Given the description of an element on the screen output the (x, y) to click on. 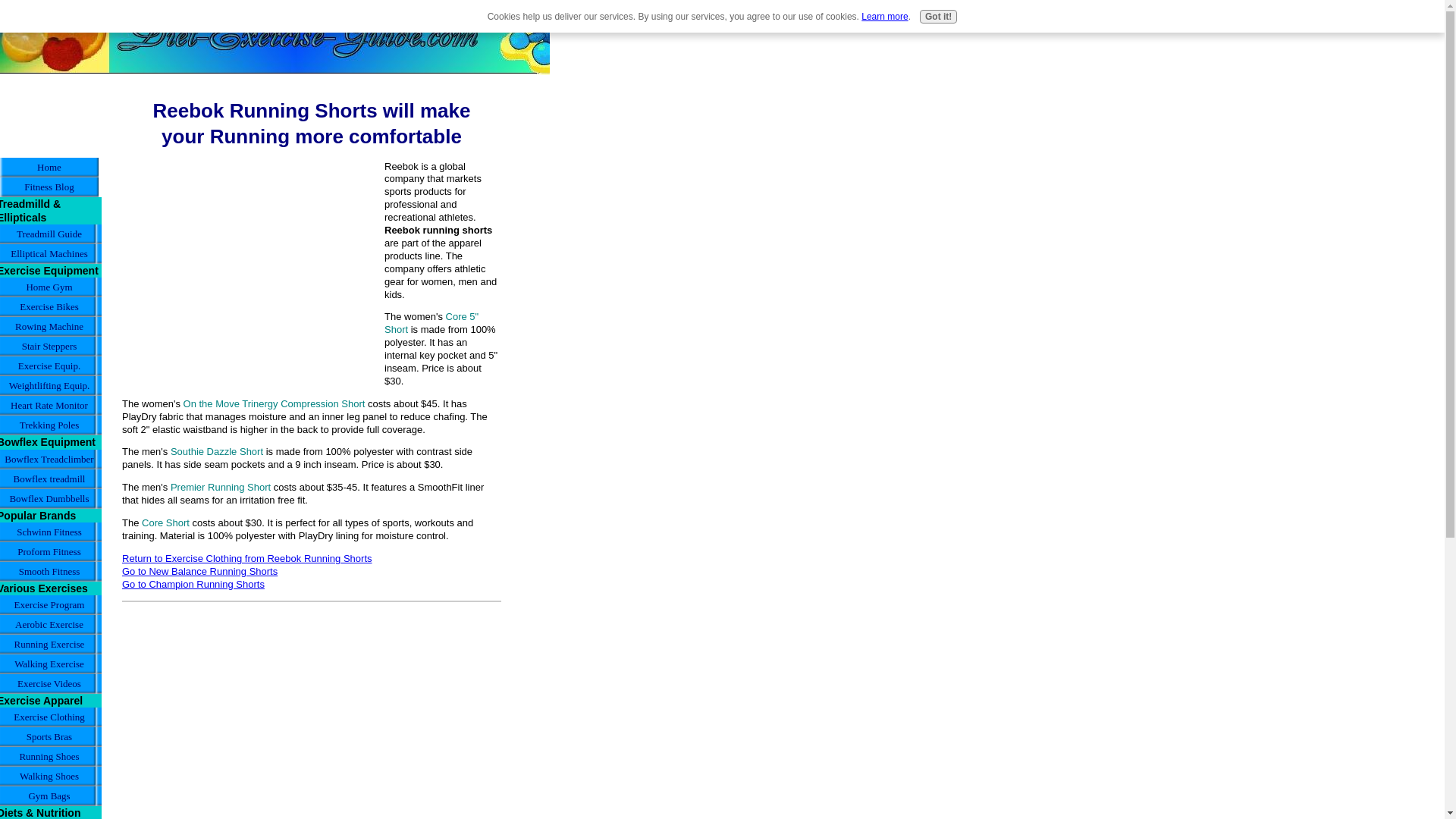
Smooth Fitness (50, 571)
Gym Bags (50, 795)
Treadmill Guide (50, 234)
Weightlifting Equip. (50, 385)
Fitness Blog (49, 187)
Running Shoes (50, 756)
Exercise Equip. (50, 365)
Bowflex Treadclimber (50, 459)
Advertisement (48, 110)
Walking Shoes (50, 776)
Advertisement (249, 266)
Proform Fitness (50, 551)
Aerobic Exercise (50, 624)
Rowing Machine (50, 326)
Exercise Bikes (50, 306)
